Given the description of an element on the screen output the (x, y) to click on. 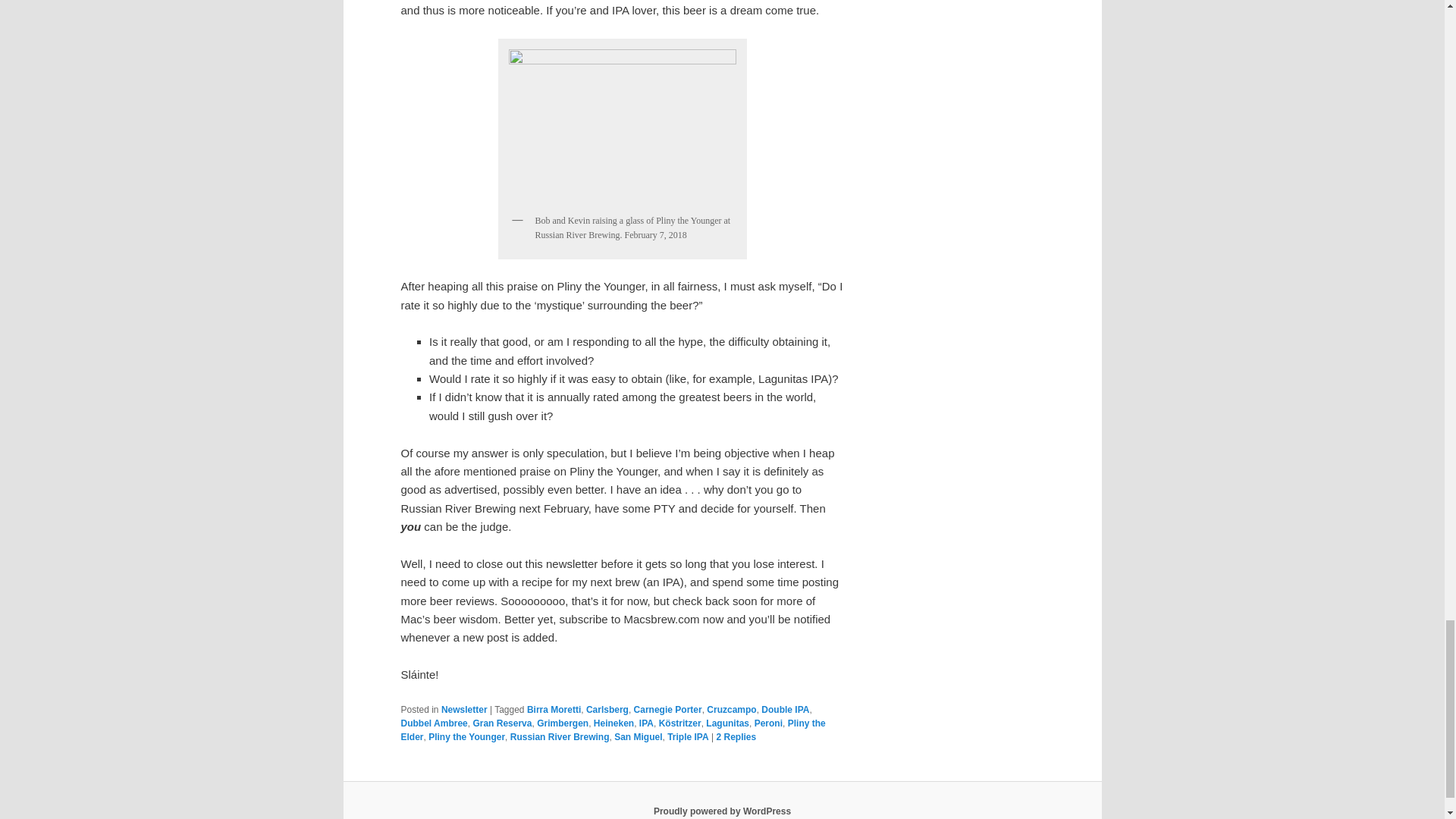
Double IPA (785, 709)
Triple IPA (686, 737)
Birra Moretti (553, 709)
Peroni (768, 723)
Carnegie Porter (667, 709)
IPA (646, 723)
Cruzcampo (730, 709)
San Miguel (638, 737)
Dubbel Ambree (433, 723)
Semantic Personal Publishing Platform (721, 810)
